Given the description of an element on the screen output the (x, y) to click on. 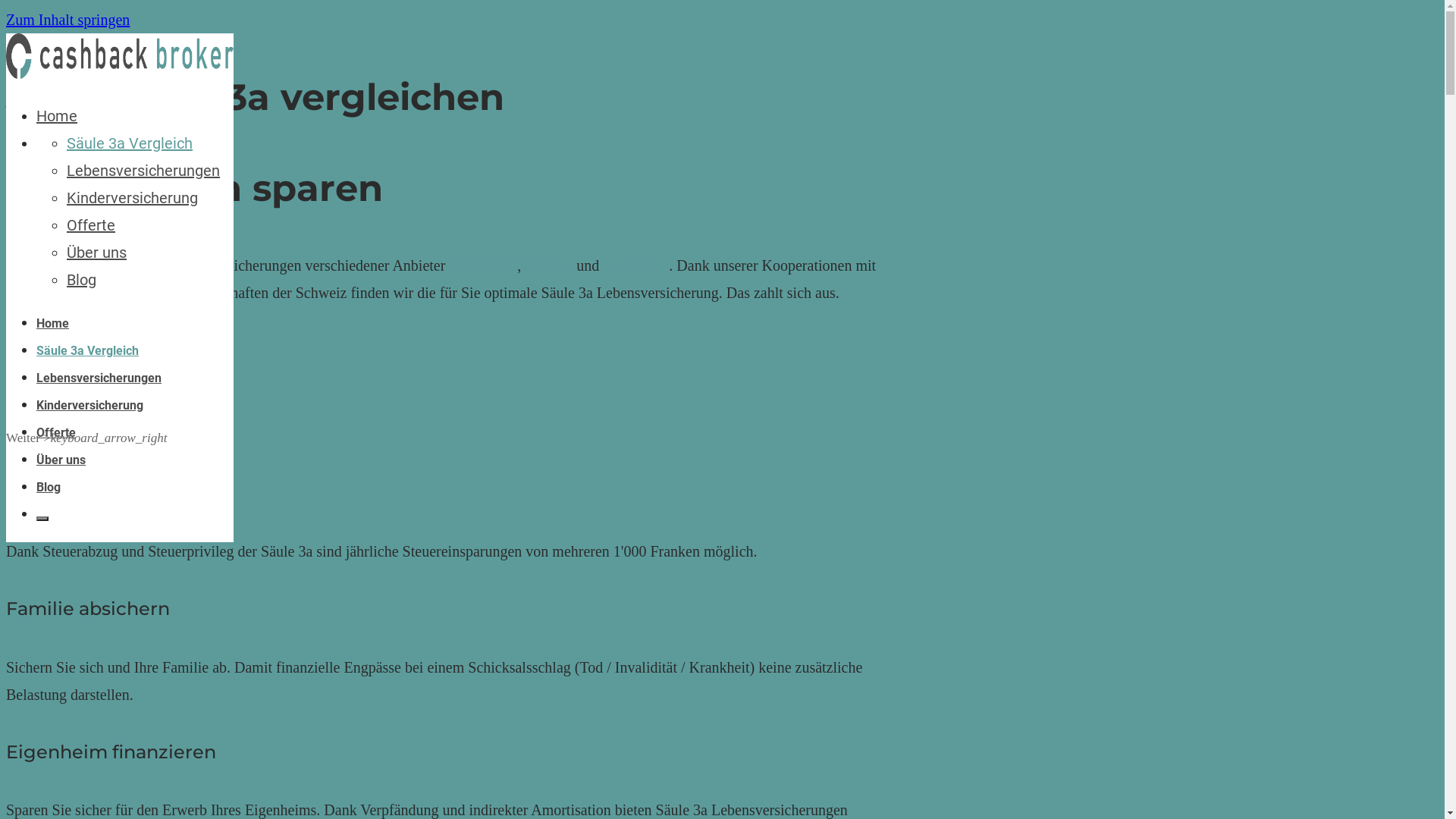
Home Element type: text (52, 323)
Blog Element type: text (81, 279)
Offerte Element type: text (55, 432)
Kinderversicherung Element type: text (89, 405)
Zum Inhalt springen Element type: text (67, 19)
Lebensversicherungen Element type: text (98, 377)
Kinderversicherung Element type: text (131, 197)
Lebensversicherungen Element type: text (142, 170)
Cashback Broker Element type: text (58, 115)
Home Element type: text (56, 115)
Blog Element type: text (48, 487)
Offerte Element type: text (90, 225)
